Given the description of an element on the screen output the (x, y) to click on. 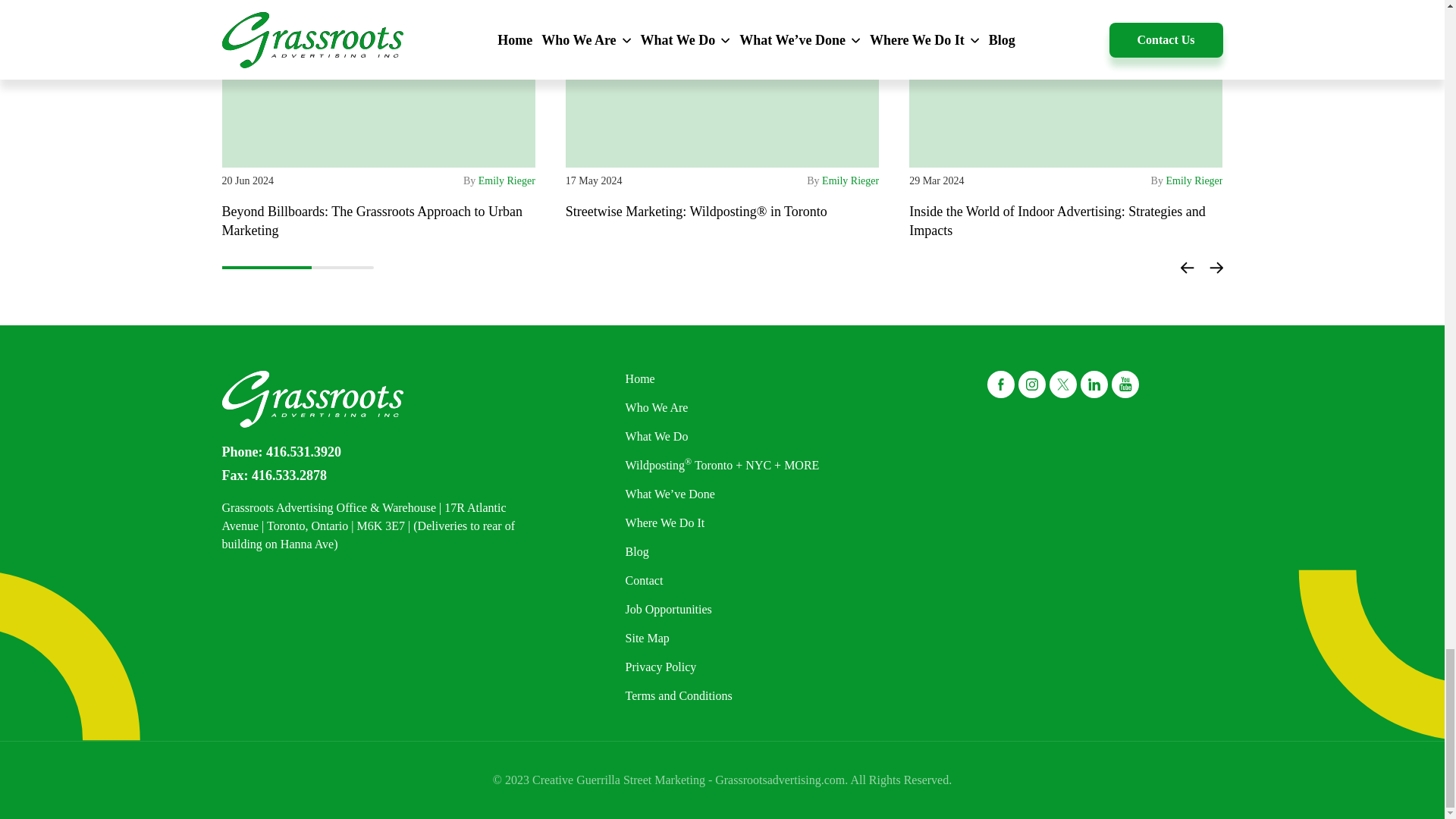
Facebook (1000, 384)
LinkedIn (1094, 384)
Instagram (1031, 384)
Twitter (1063, 384)
Grassroots Advertising (312, 399)
Youtube (1125, 384)
